Given the description of an element on the screen output the (x, y) to click on. 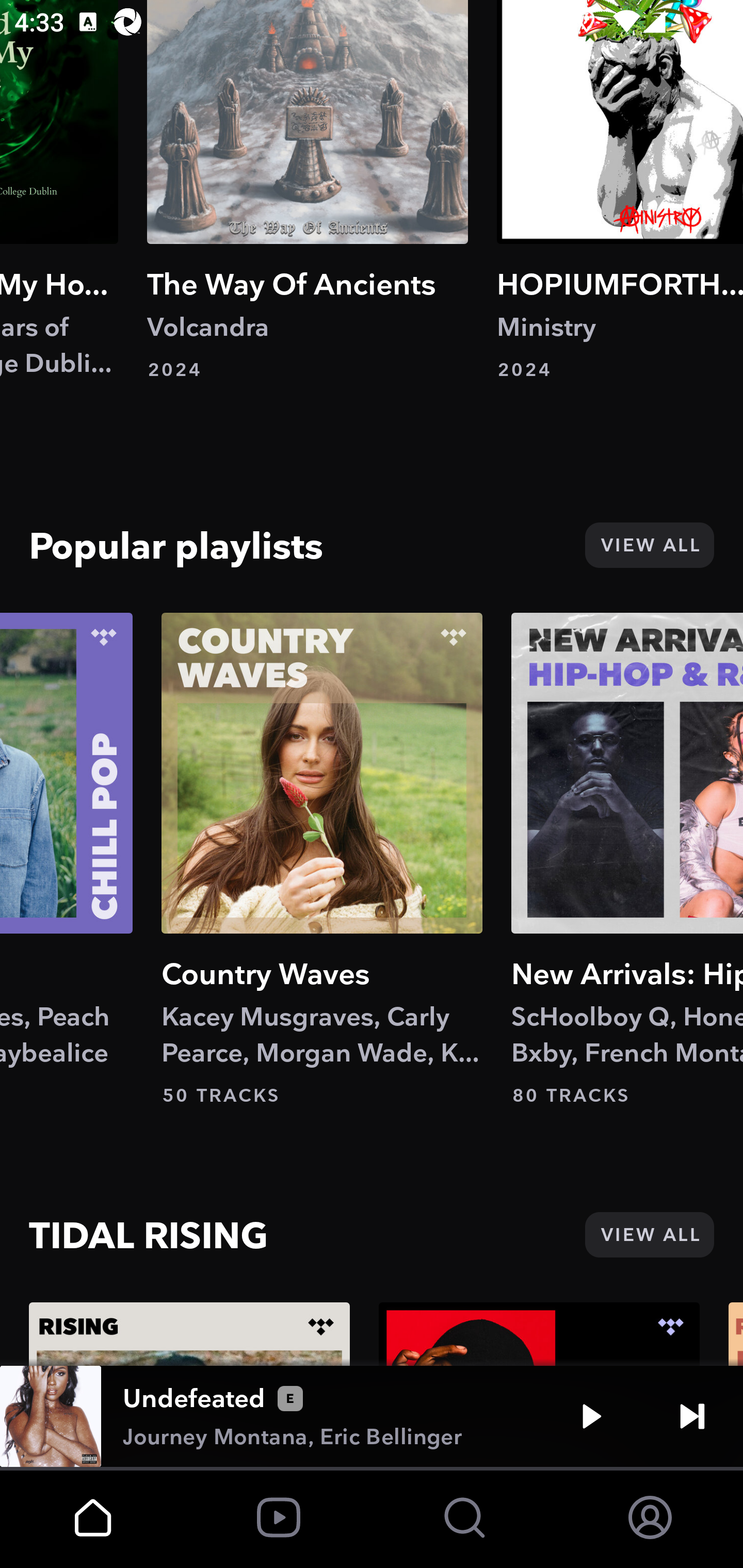
The Way Of Ancients Volcandra 2024 (307, 190)
HOPIUMFORTHEMASSES Ministry 2024 (620, 190)
VIEW ALL (649, 544)
VIEW ALL (649, 1234)
Undefeated    Journey Montana, Eric Bellinger Play (371, 1416)
Play (590, 1416)
